Given the description of an element on the screen output the (x, y) to click on. 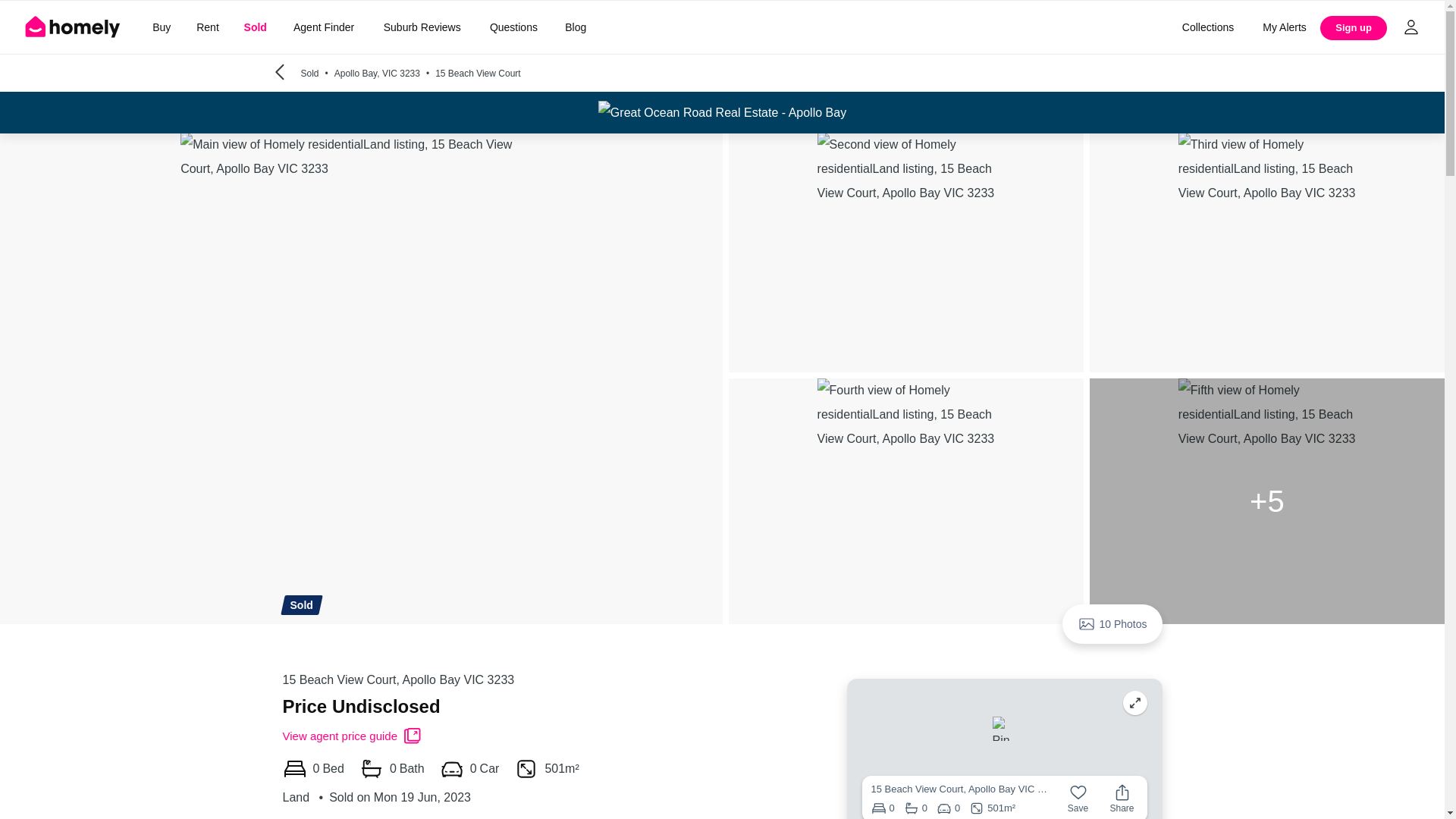
My Alerts (1284, 27)
Questions (513, 27)
10 Photos (1111, 624)
Back (278, 72)
View agent price guide (352, 735)
Agent Finder (323, 27)
Agent Finder (323, 27)
Suburb Reviews (422, 27)
Collections (1207, 27)
Apollo Bay, VIC 3233 (384, 72)
Rent (207, 27)
Sold (255, 27)
Blog (575, 27)
Blog (575, 27)
Sold (255, 27)
